Given the description of an element on the screen output the (x, y) to click on. 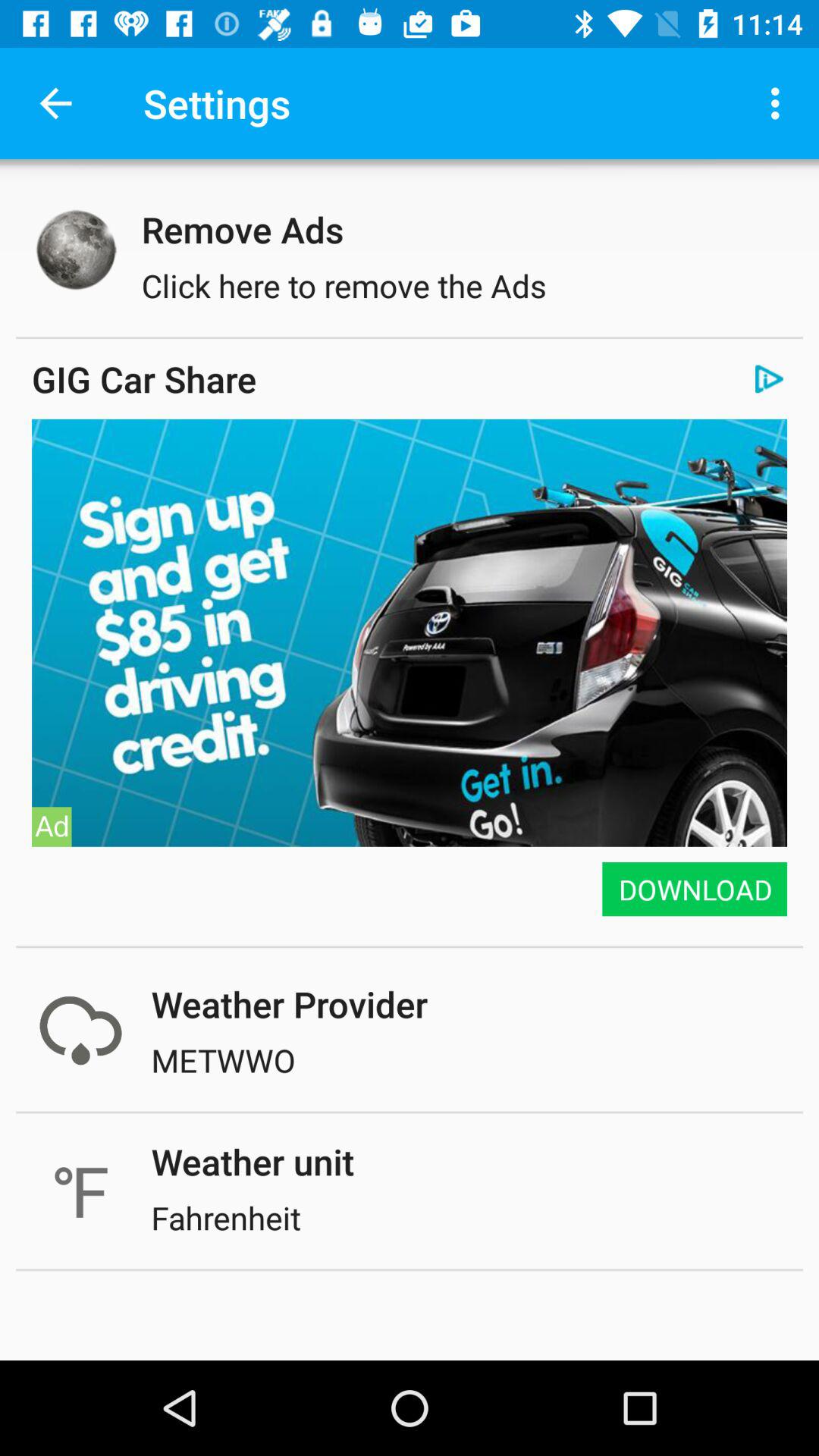
launch icon to the left of settings (55, 103)
